Given the description of an element on the screen output the (x, y) to click on. 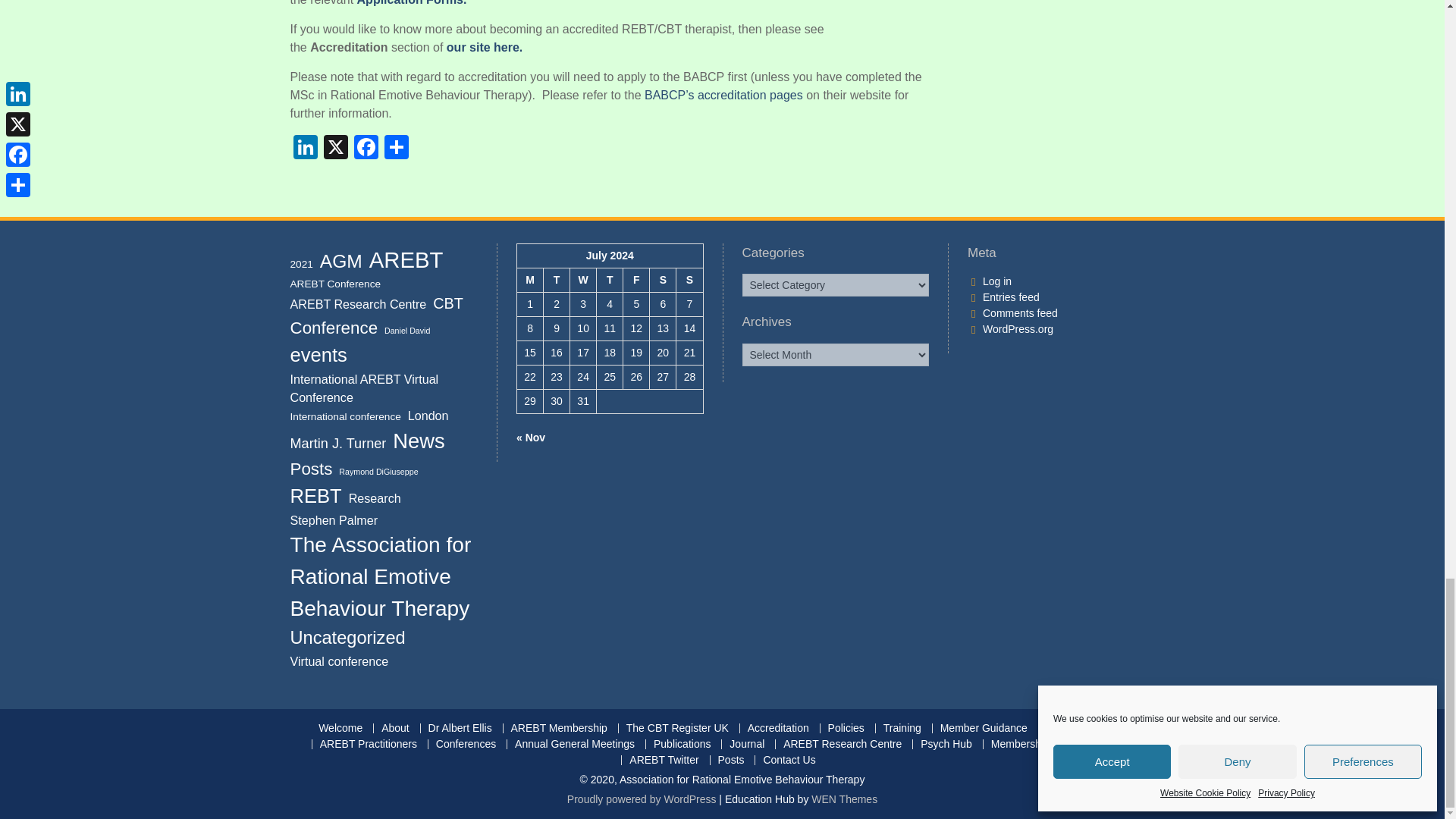
Monday (529, 279)
Sunday (690, 279)
X (335, 148)
Saturday (663, 279)
Friday (636, 279)
Tuesday (556, 279)
LinkedIn (304, 148)
Thursday (609, 279)
Wednesday (583, 279)
Facebook (365, 148)
